Given the description of an element on the screen output the (x, y) to click on. 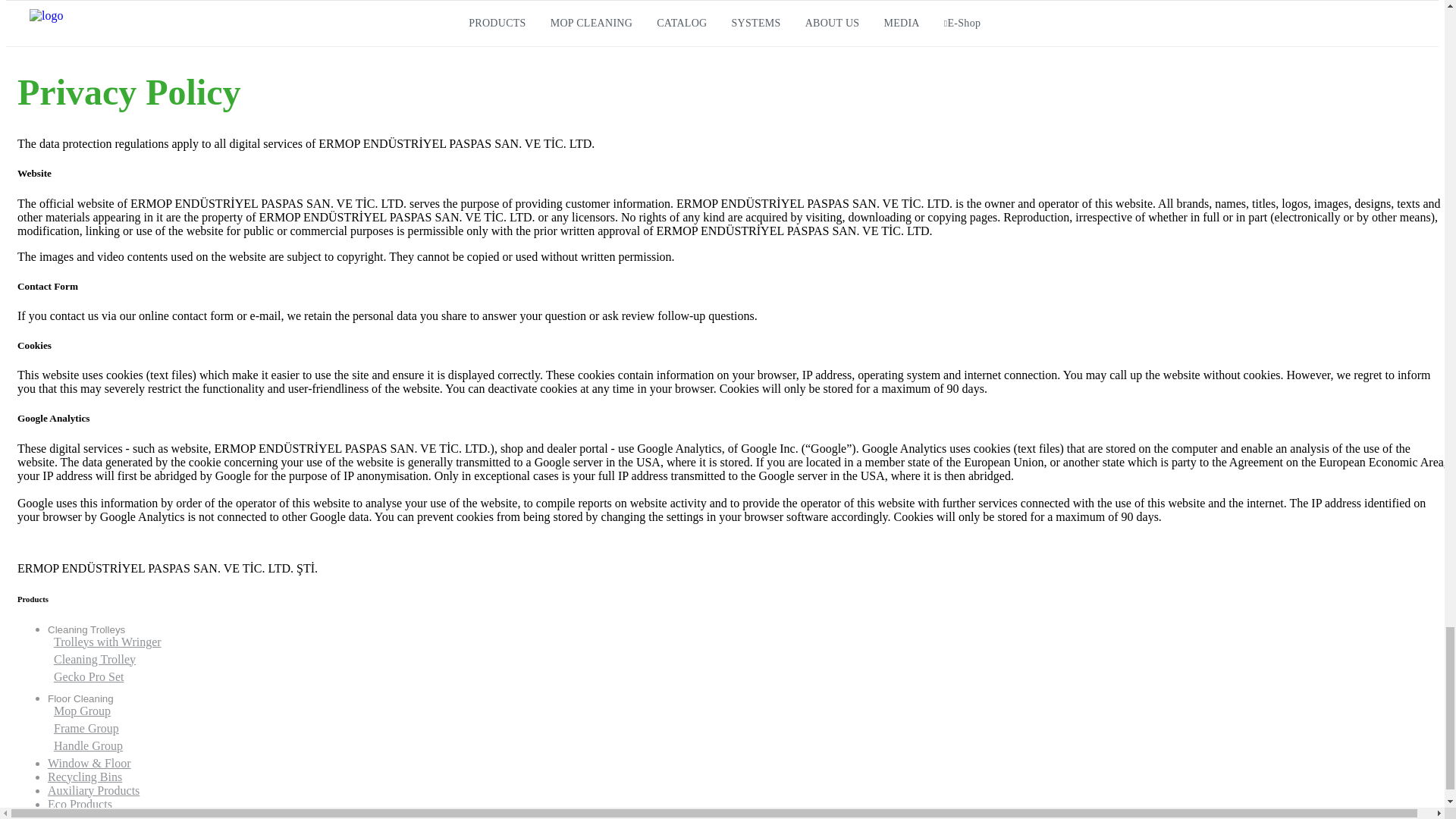
PRODUCTS (497, 22)
